Given the description of an element on the screen output the (x, y) to click on. 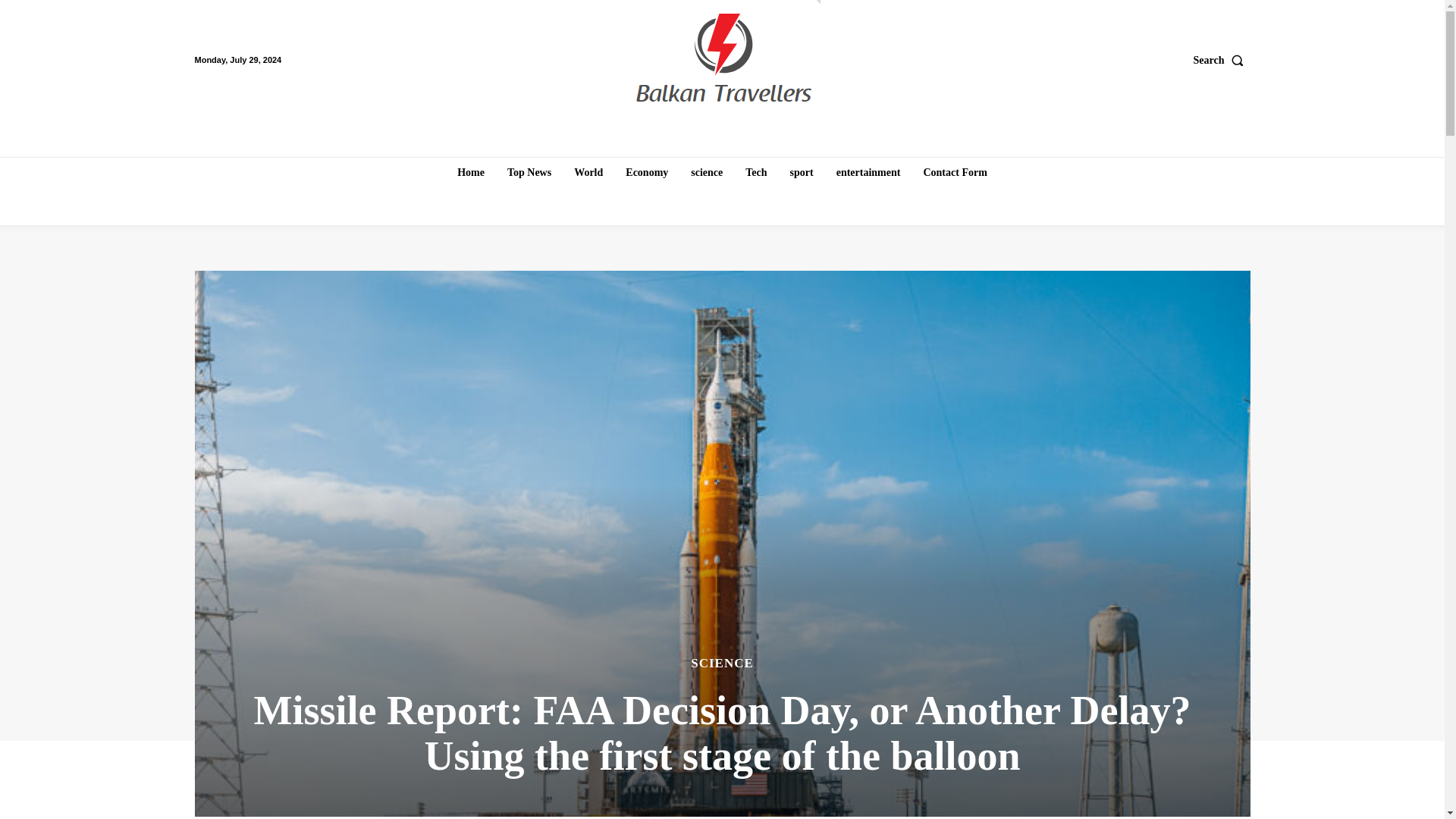
entertainment (868, 173)
science (706, 173)
Tech (756, 173)
Search (1221, 60)
Economy (646, 173)
Top News (529, 173)
Home (470, 173)
World (588, 173)
sport (802, 173)
Contact Form (954, 173)
